Given the description of an element on the screen output the (x, y) to click on. 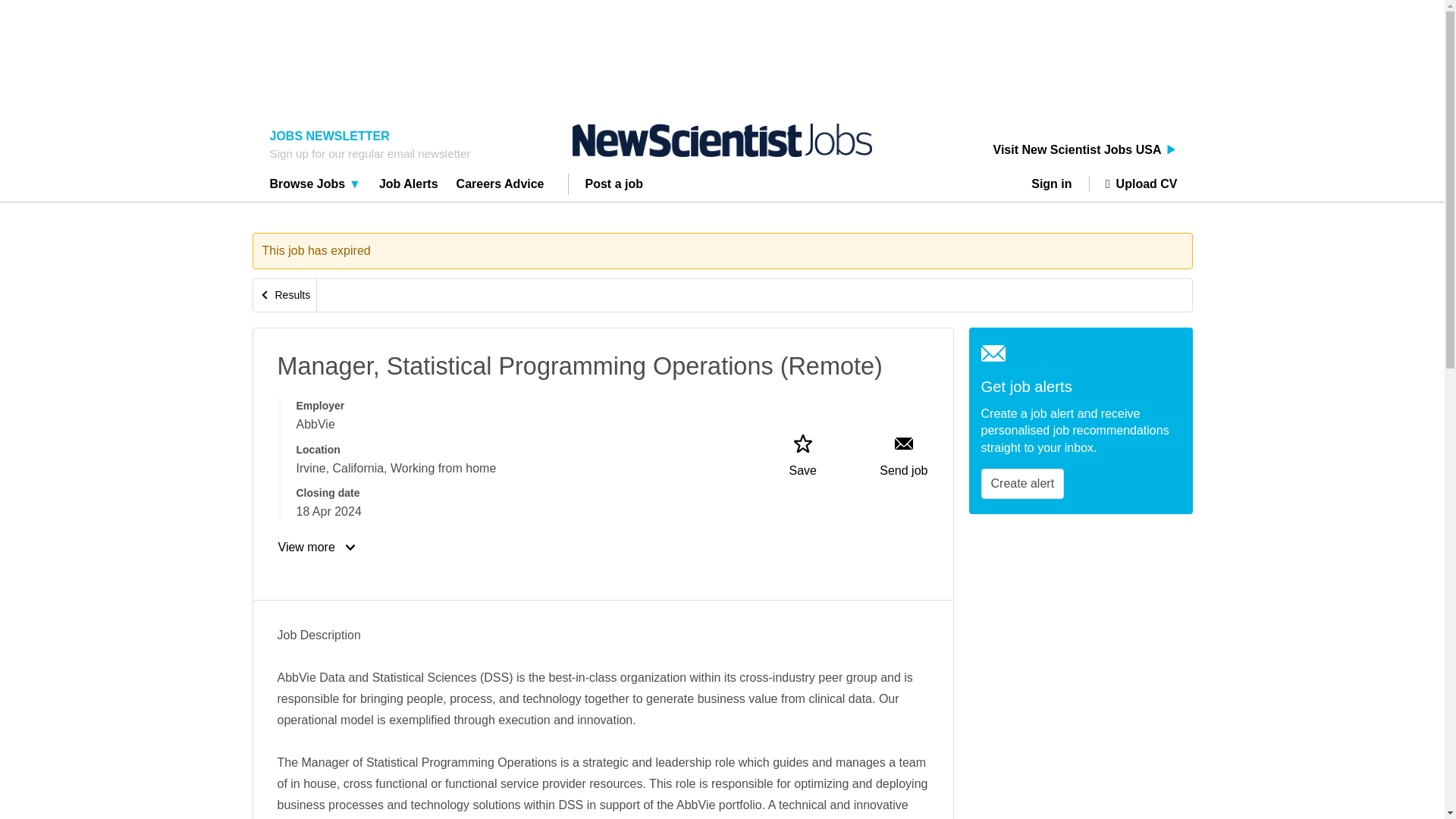
Post a job (614, 186)
Visit New Scientist Jobs USA (1084, 149)
Results (285, 295)
View more (318, 547)
New Scientist Jobs (722, 140)
Job Alerts (409, 186)
Careers Advice (500, 186)
Sign in (1057, 183)
Upload CV (1133, 183)
